Given the description of an element on the screen output the (x, y) to click on. 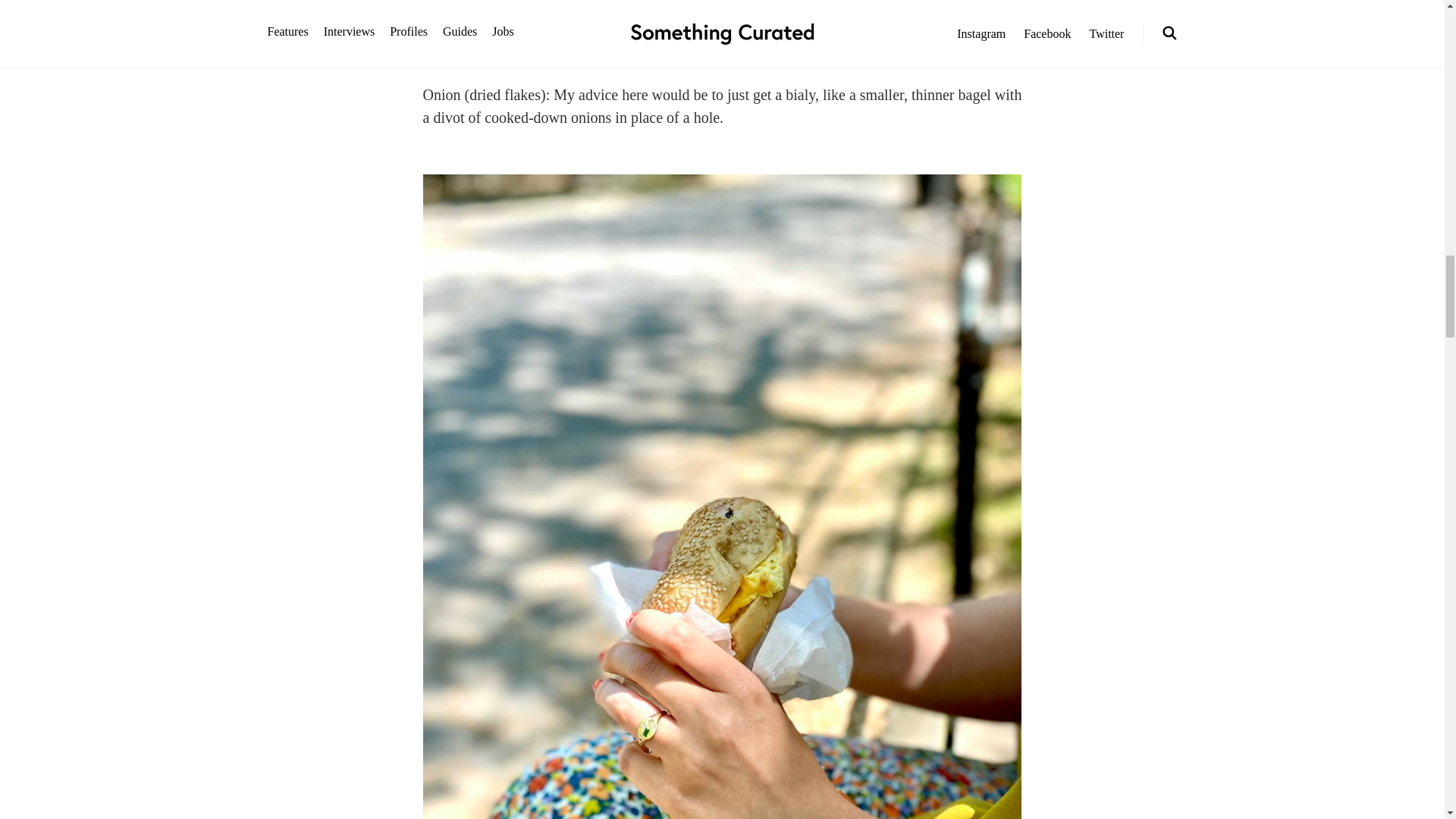
Cynthia Nixon debacle (927, 49)
